Given the description of an element on the screen output the (x, y) to click on. 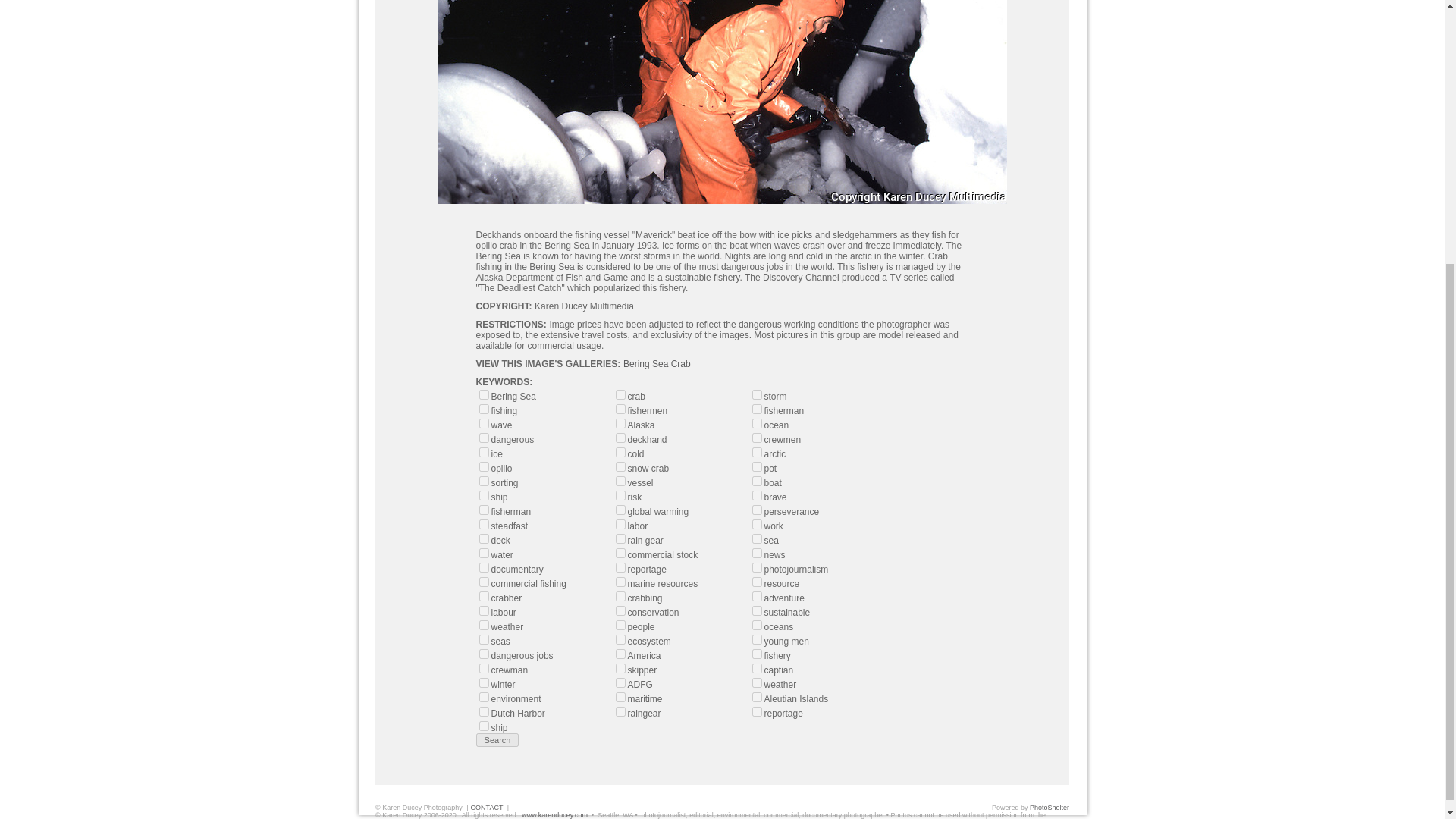
fishermen (620, 409)
Bering Sea Crab (656, 363)
sorting (484, 480)
 Search  (497, 739)
storm (756, 394)
opilio (484, 466)
crewmen (756, 438)
Bering Sea (484, 394)
Alaska (620, 423)
fisherman (756, 409)
ocean (756, 423)
PhotoShelter (1048, 807)
deckhand (620, 438)
arctic (756, 452)
fishing (484, 409)
